Given the description of an element on the screen output the (x, y) to click on. 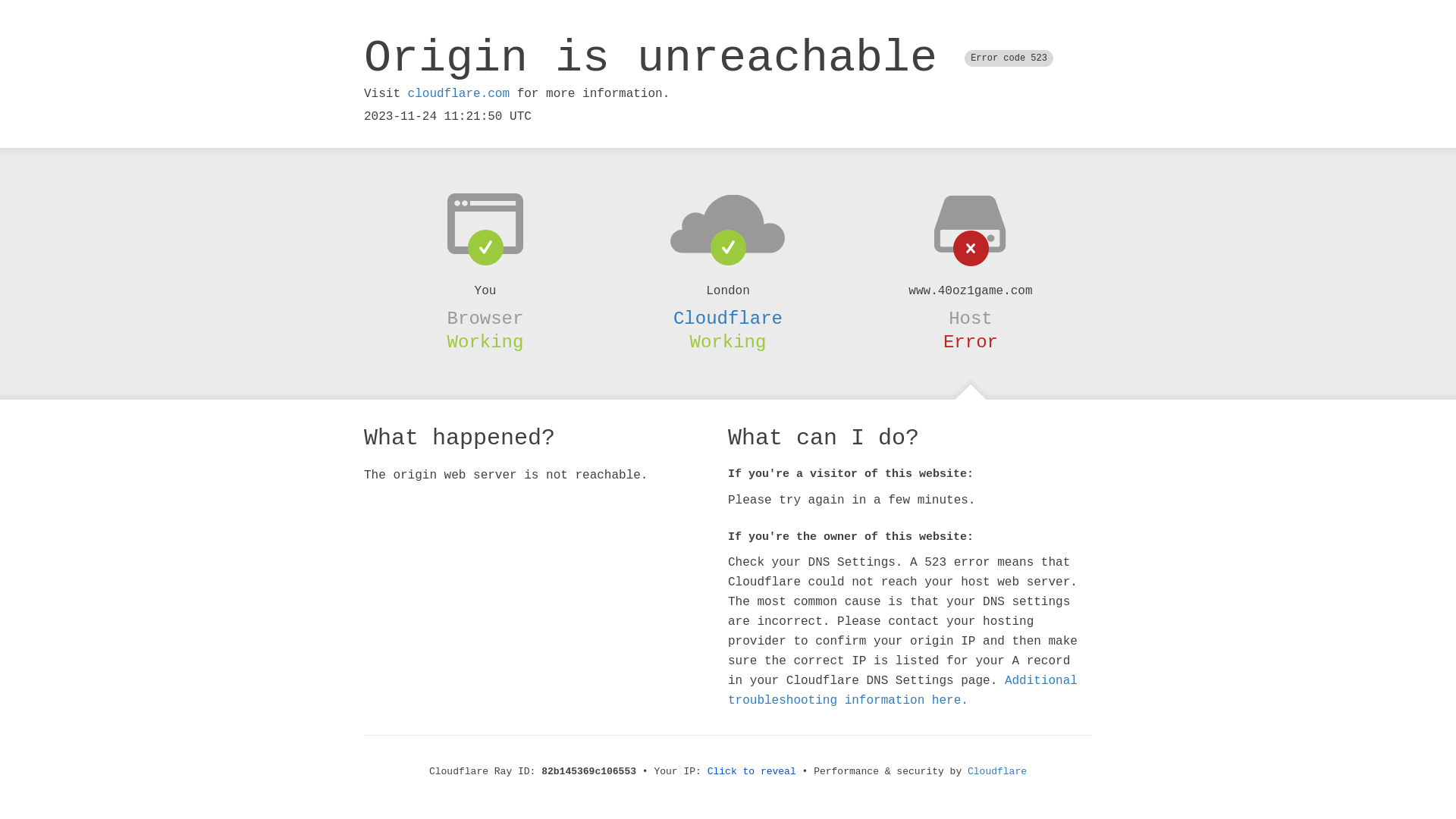
cloudflare.com Element type: text (458, 93)
Cloudflare Element type: text (727, 318)
Additional troubleshooting information here. Element type: text (902, 690)
Cloudflare Element type: text (996, 771)
Click to reveal Element type: text (751, 771)
